Given the description of an element on the screen output the (x, y) to click on. 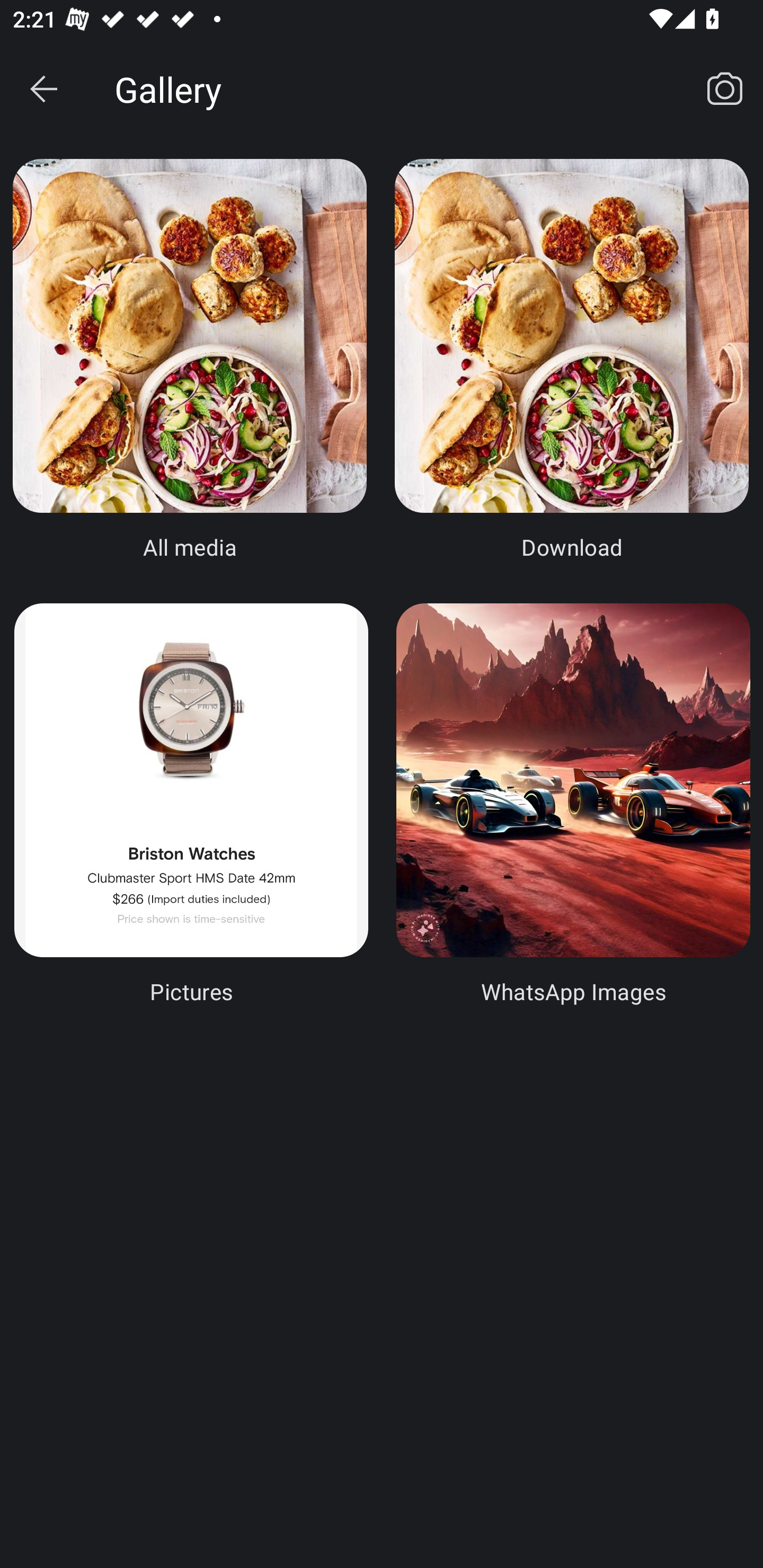
All media (189, 360)
